Given the description of an element on the screen output the (x, y) to click on. 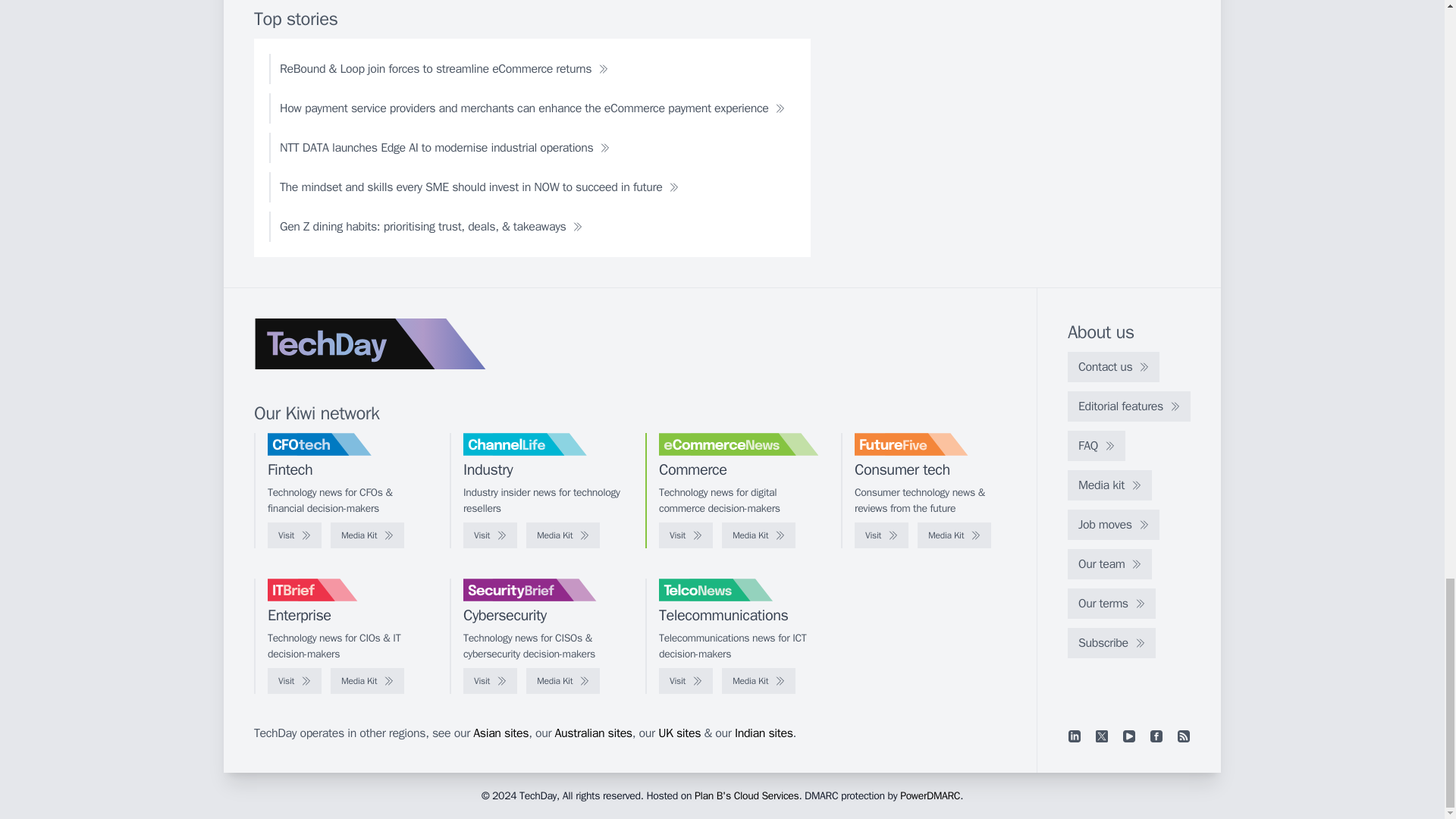
Media Kit (954, 534)
Visit (686, 534)
Media Kit (758, 534)
Media Kit (562, 534)
NTT DATA launches Edge AI to modernise industrial operations (444, 147)
Media Kit (367, 534)
Visit (489, 534)
Visit (294, 534)
Visit (881, 534)
